Given the description of an element on the screen output the (x, y) to click on. 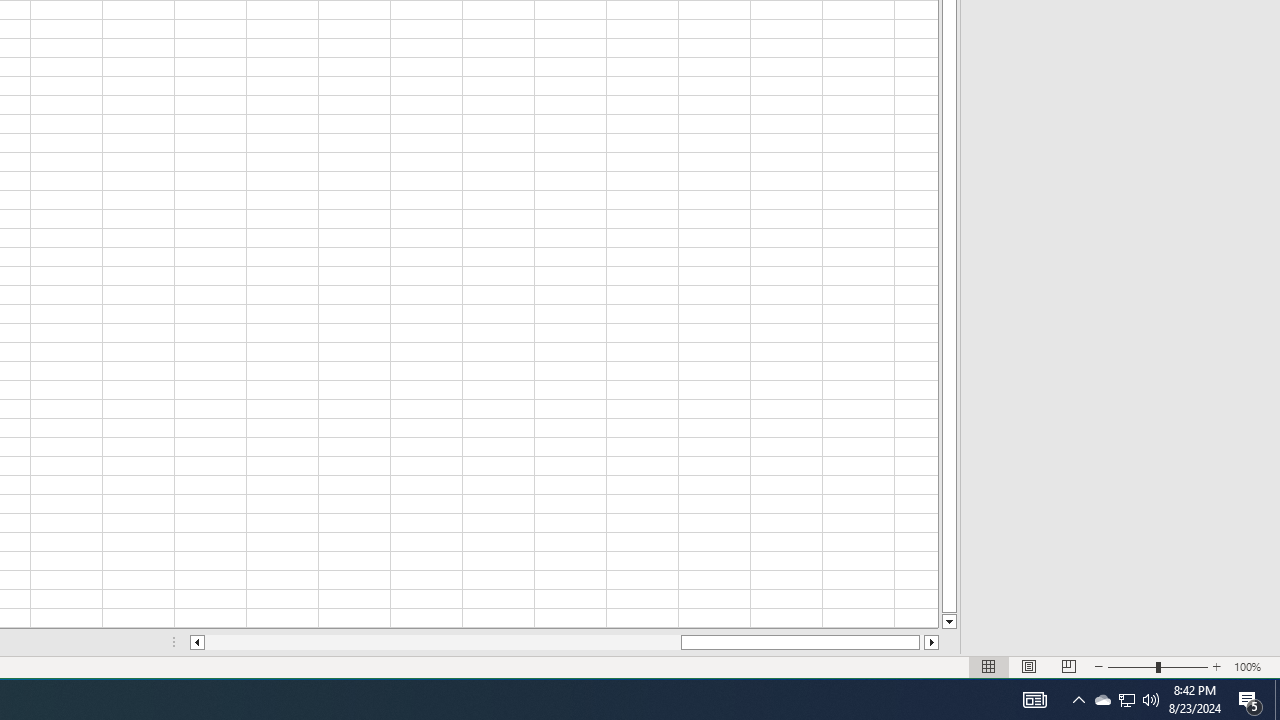
Show desktop (1277, 699)
User Promoted Notification Area (1126, 699)
Notification Chevron (1102, 699)
